Given the description of an element on the screen output the (x, y) to click on. 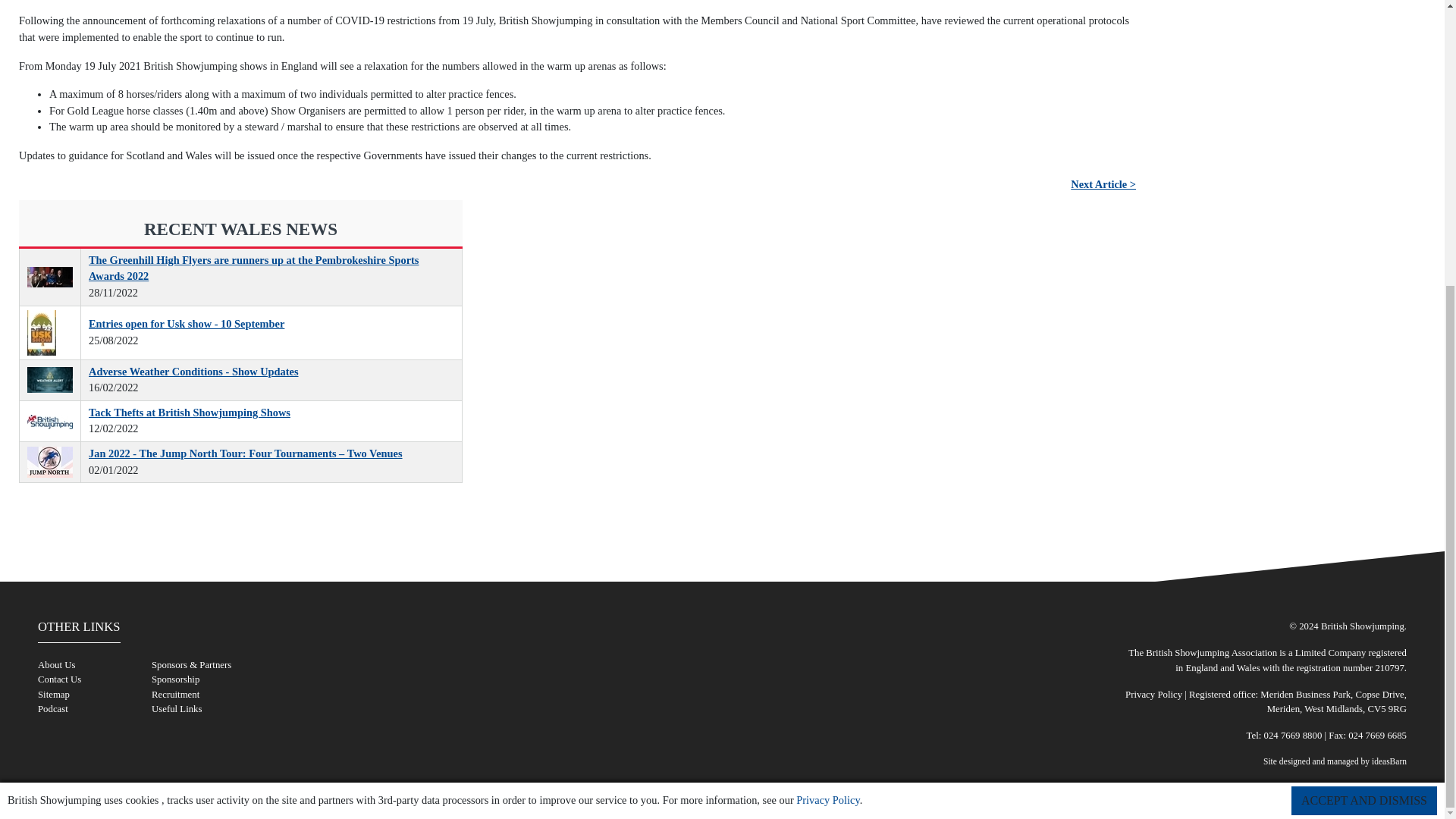
Privacy Policy (827, 368)
ACCEPT AND DISMISS (1364, 369)
Adverse Weather Conditions - Show Updates (49, 379)
Tack Thefts at British Showjumping Shows (49, 421)
